Given the description of an element on the screen output the (x, y) to click on. 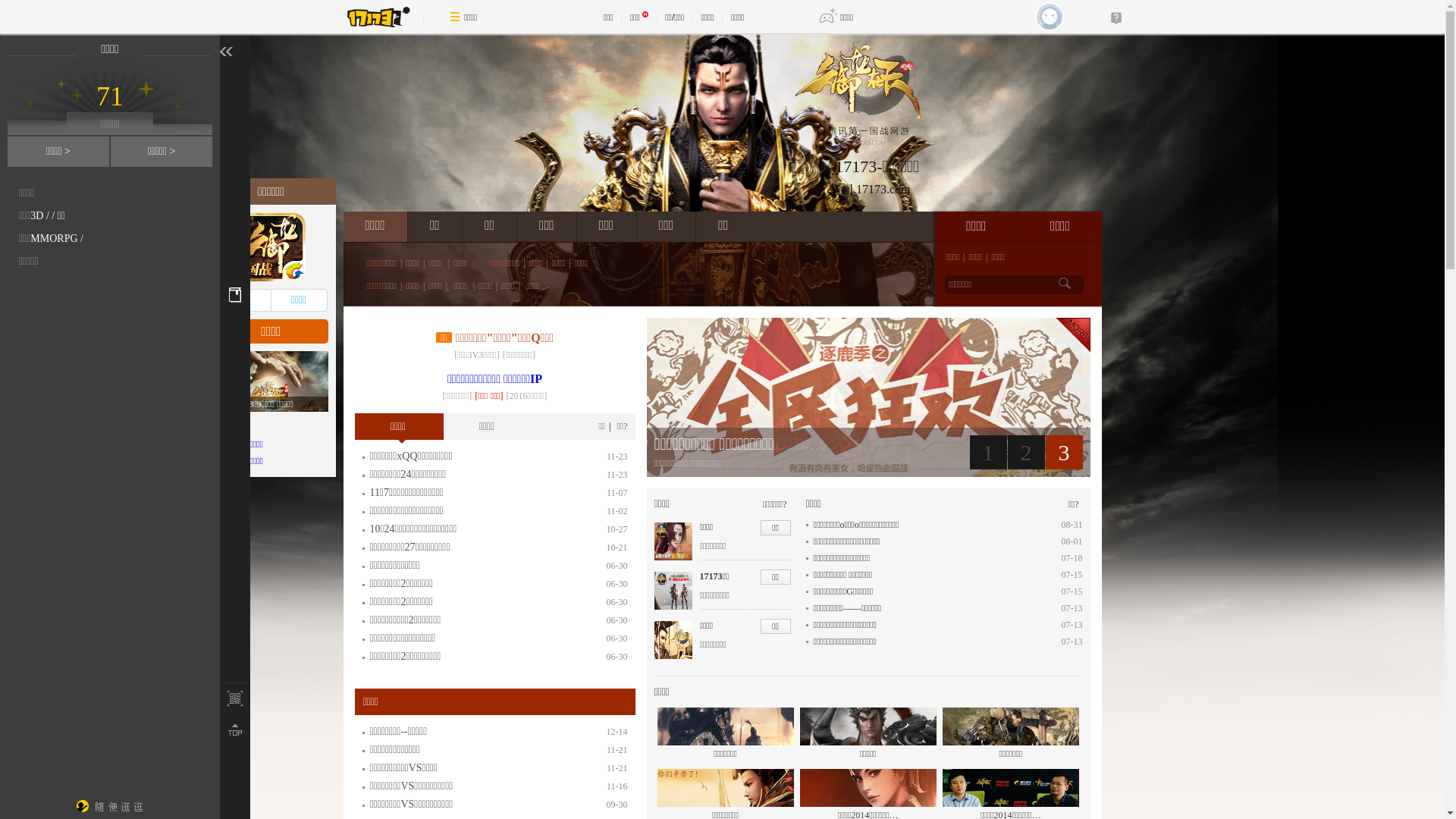
MMORPG Element type: text (53, 238)
1 Element type: text (987, 452)
3D Element type: text (36, 215)
2 Element type: text (1025, 452)
3 Element type: text (1063, 452)
